Given the description of an element on the screen output the (x, y) to click on. 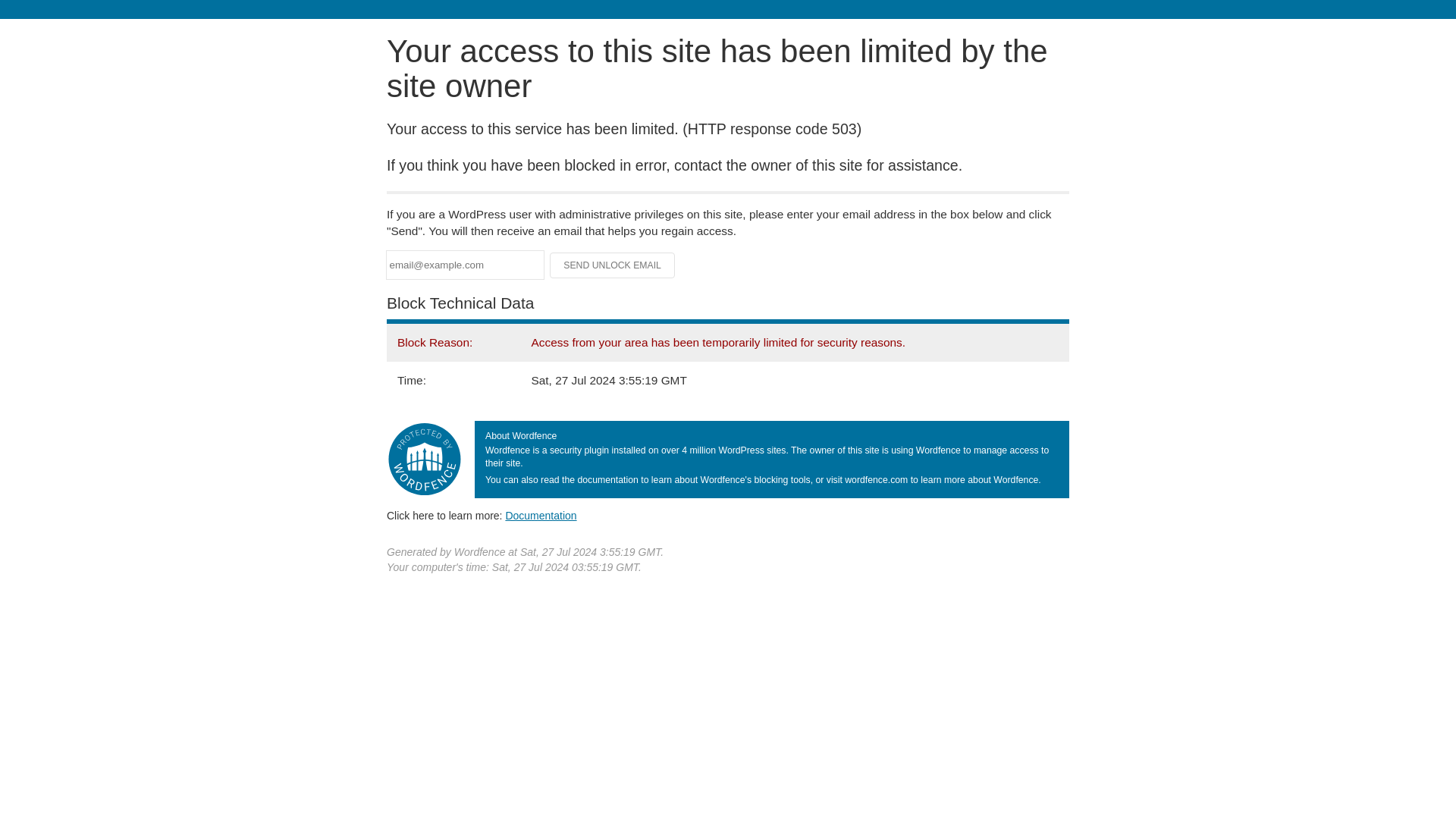
Send Unlock Email (612, 265)
Send Unlock Email (612, 265)
Documentation (540, 515)
